Given the description of an element on the screen output the (x, y) to click on. 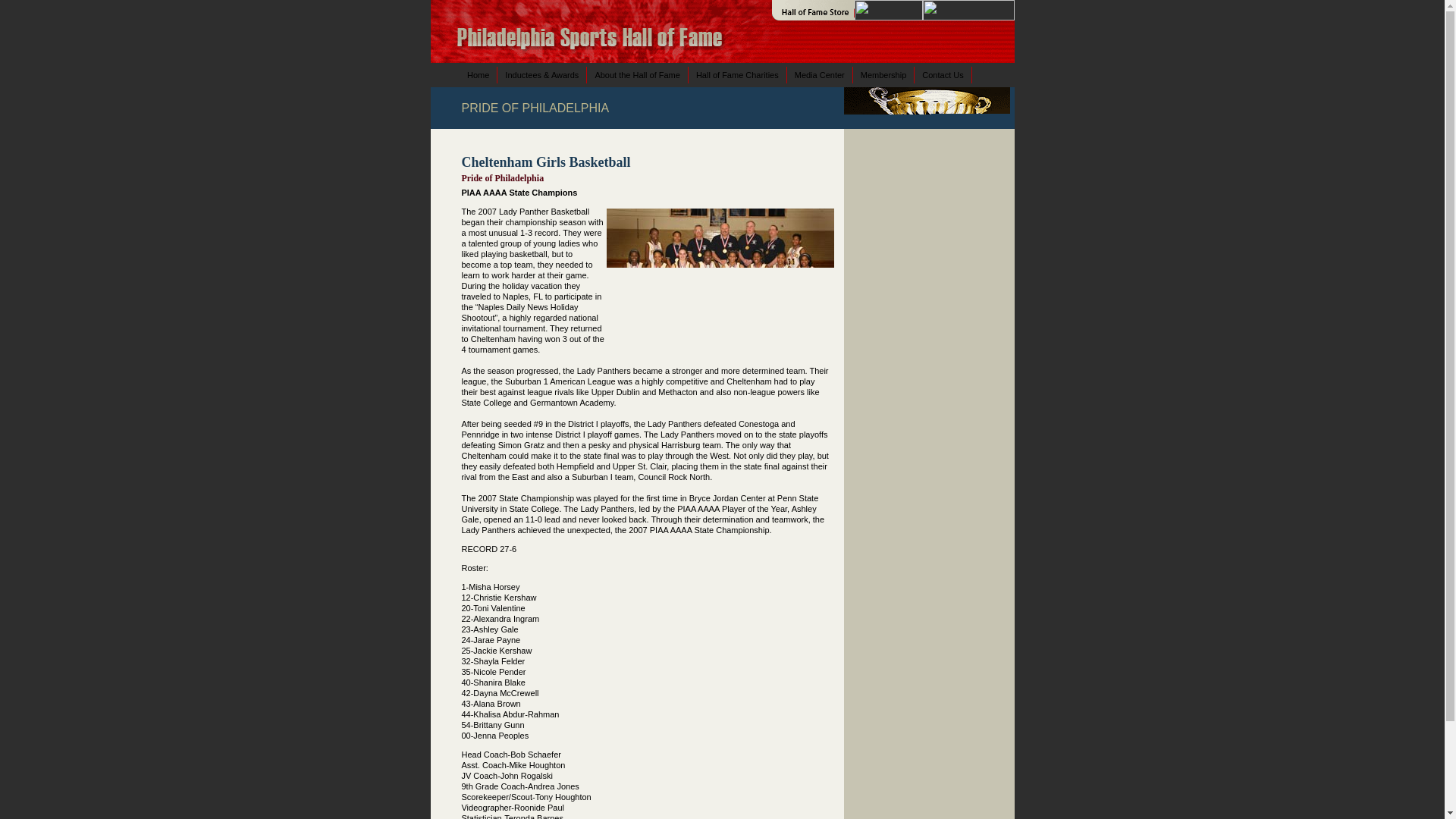
Hall of Fame Charities (737, 74)
Home (478, 74)
Hall of Fame Charities (737, 74)
Media Center (820, 74)
About the Hall of Fame (637, 74)
About the Hall of Fame (637, 74)
Inductees and Awards (541, 74)
Contact Us (942, 74)
Media Center (820, 74)
Home Page (478, 74)
